Given the description of an element on the screen output the (x, y) to click on. 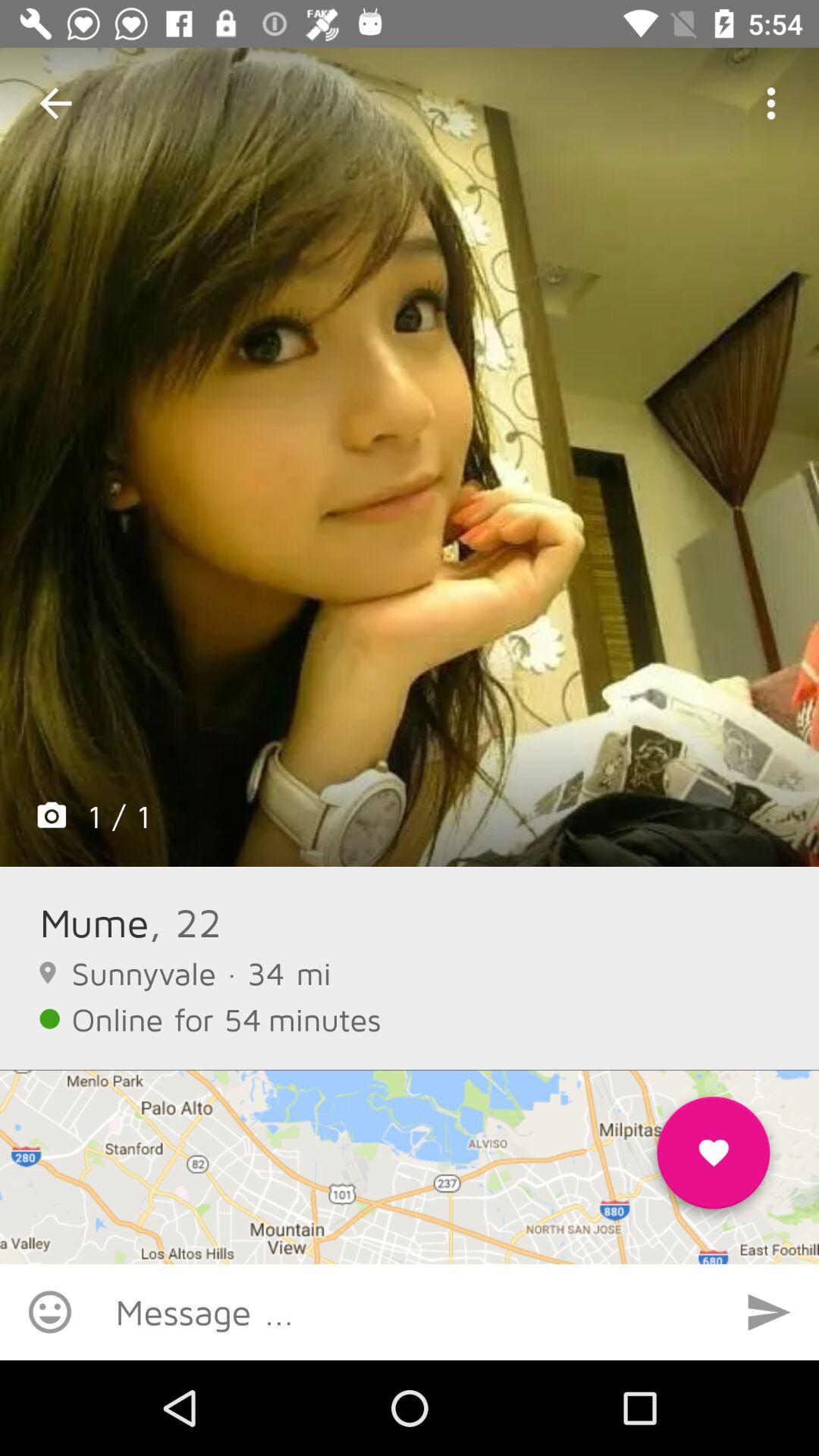
type message (409, 1311)
